Given the description of an element on the screen output the (x, y) to click on. 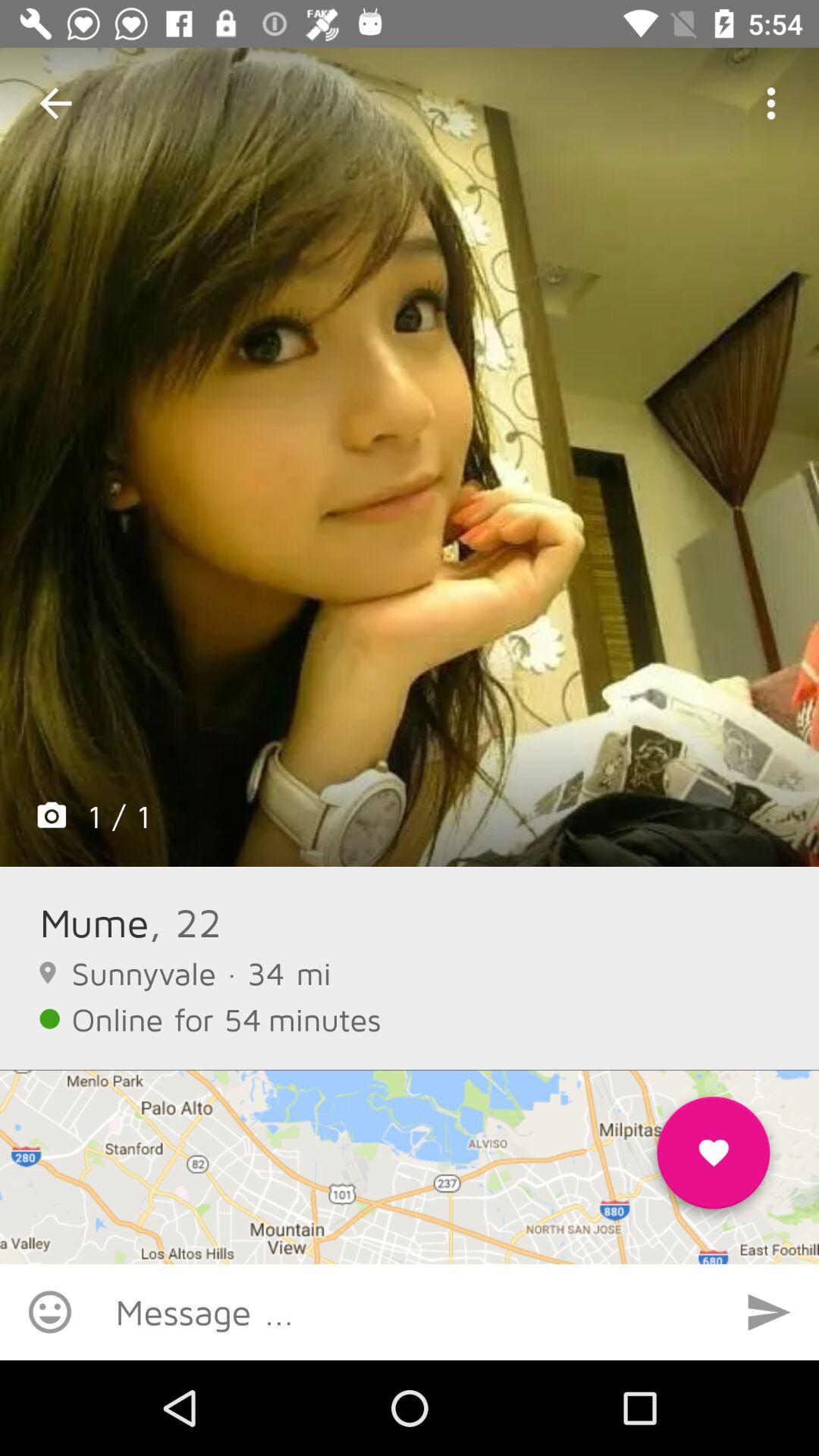
type message (409, 1311)
